Given the description of an element on the screen output the (x, y) to click on. 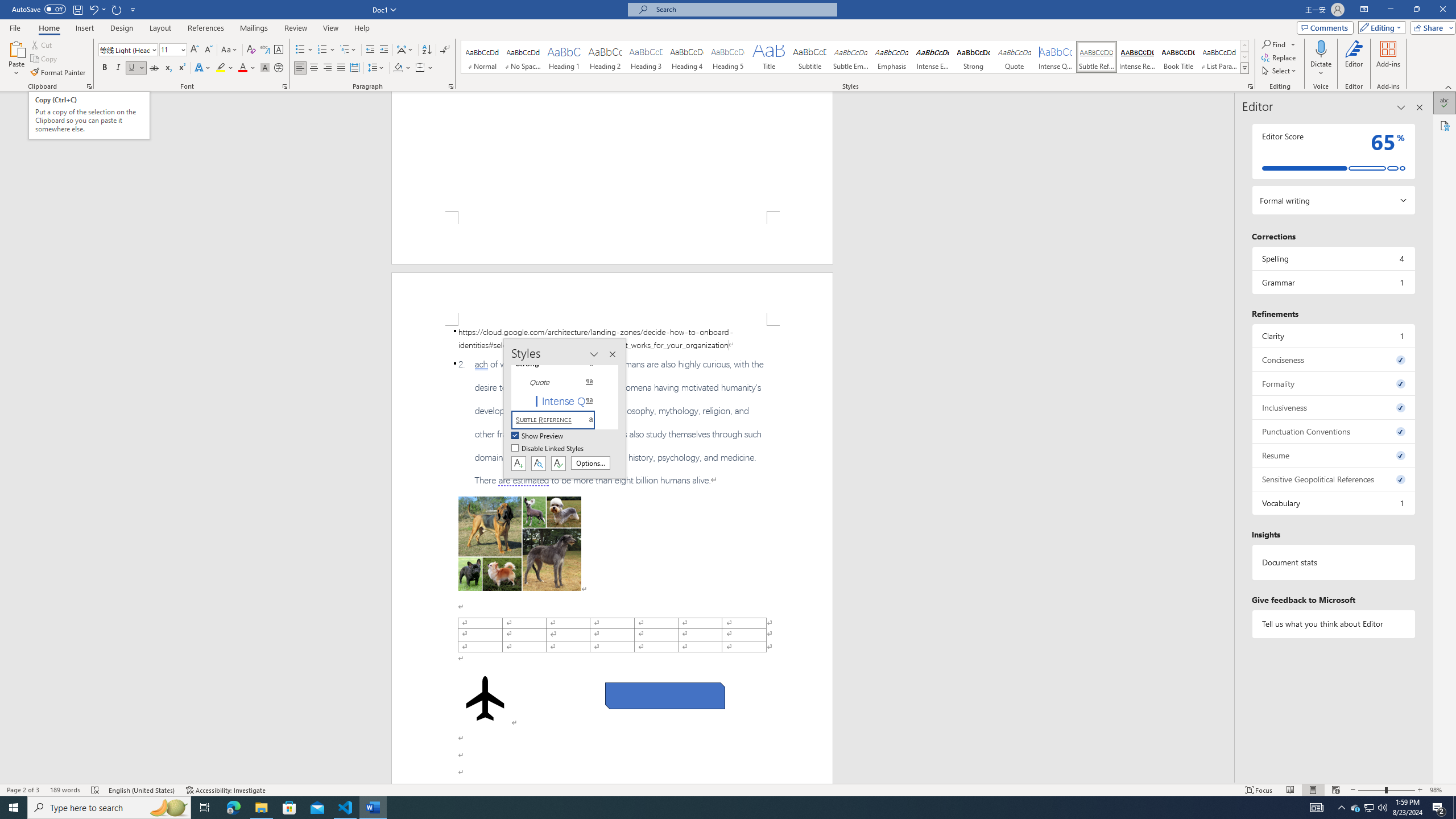
Tell us what you think about Editor (1333, 624)
Book Title (1177, 56)
